Given the description of an element on the screen output the (x, y) to click on. 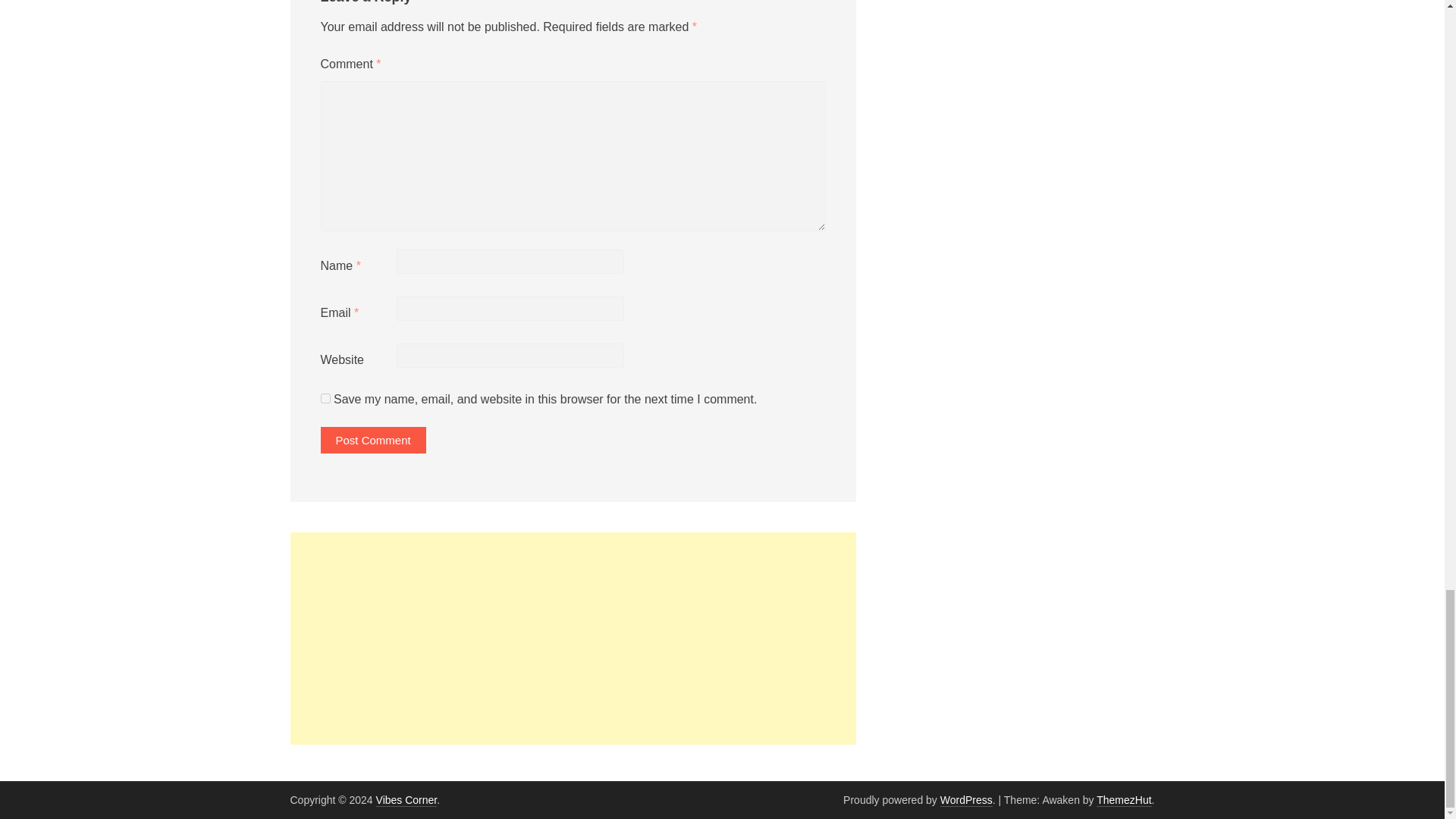
WordPress (966, 799)
WordPress (966, 799)
Post Comment (372, 439)
Vibes Corner (406, 799)
ThemezHut (1123, 799)
Post Comment (372, 439)
Vibes Corner (406, 799)
yes (325, 398)
